Given the description of an element on the screen output the (x, y) to click on. 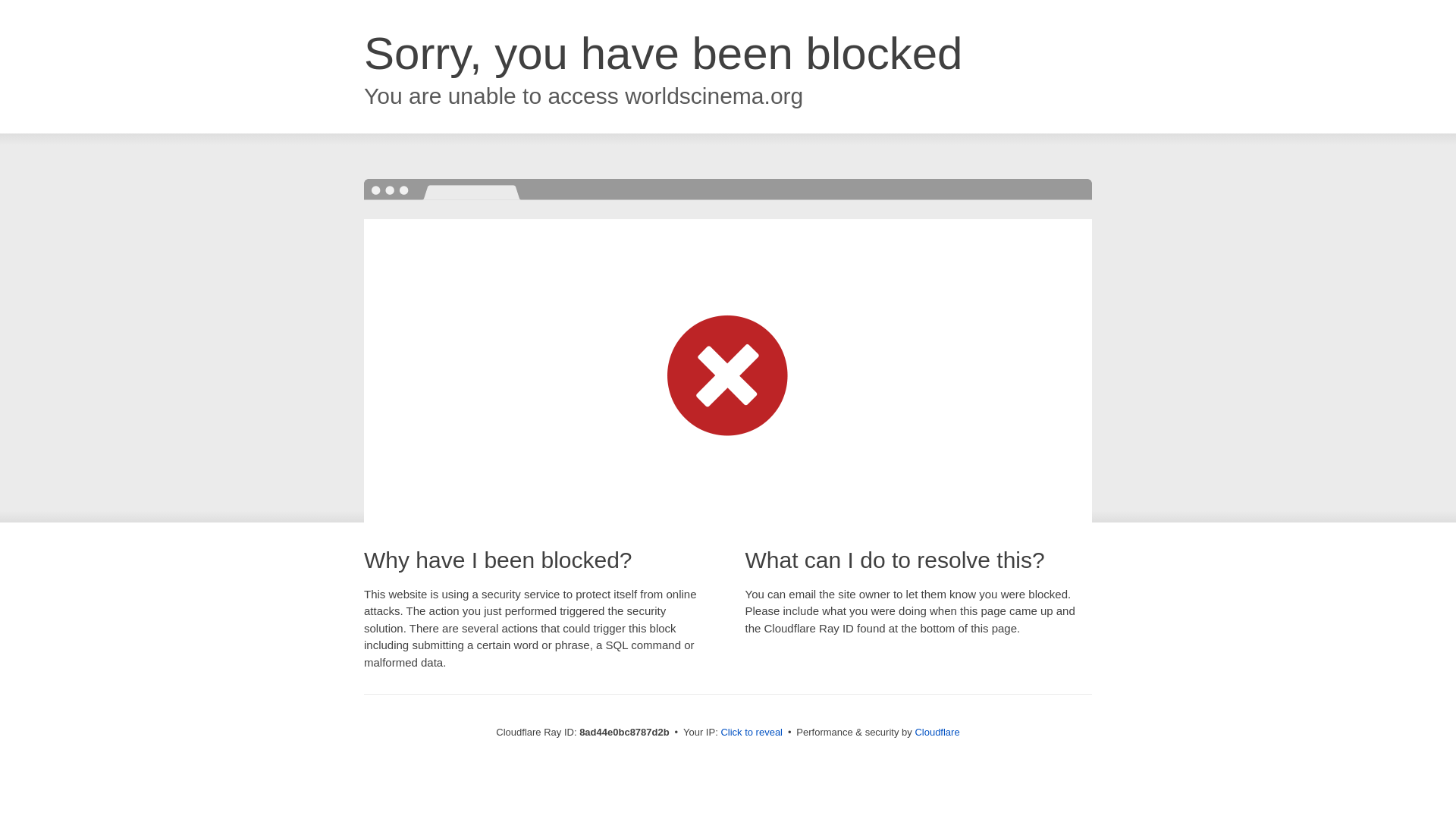
Cloudflare (936, 731)
Click to reveal (751, 732)
